Given the description of an element on the screen output the (x, y) to click on. 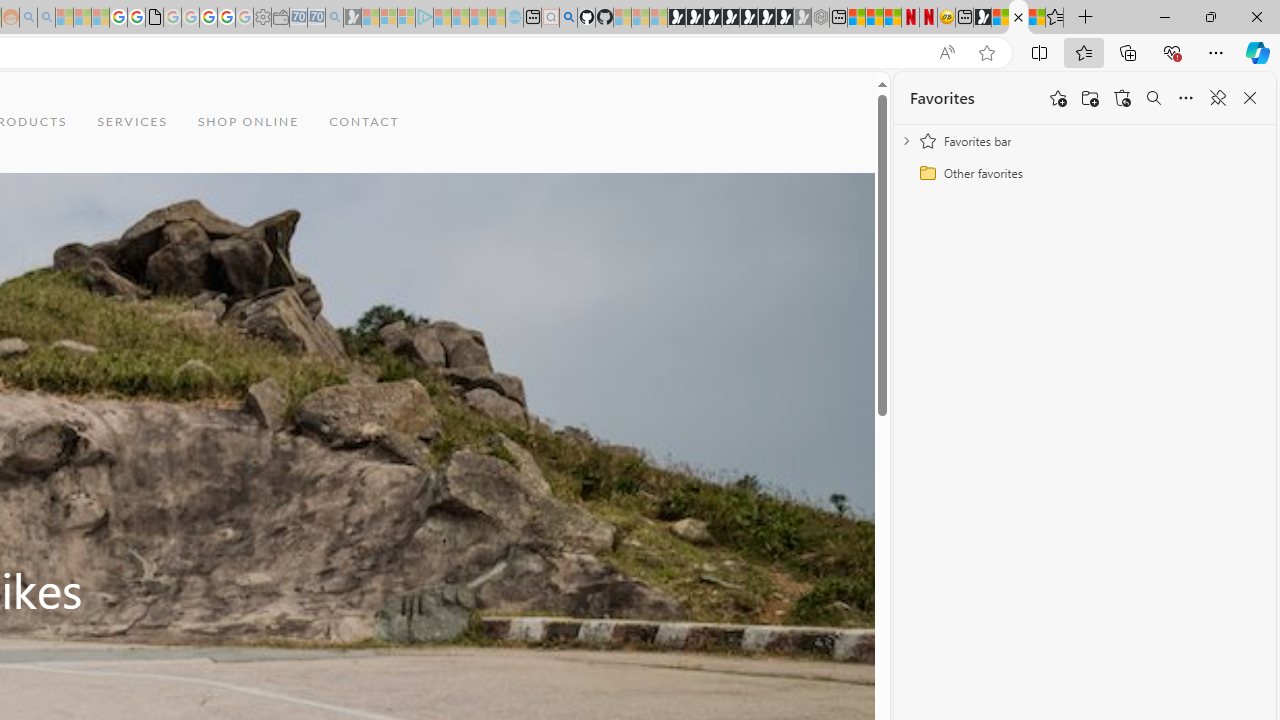
Cheap Car Rentals - Save70.com - Sleeping (316, 17)
google_privacy_policy_zh-CN.pdf (153, 17)
Home | Sky Blue Bikes - Sky Blue Bikes - Sleeping (514, 17)
Add this page to favorites (1058, 98)
github - Search (568, 17)
